Given the description of an element on the screen output the (x, y) to click on. 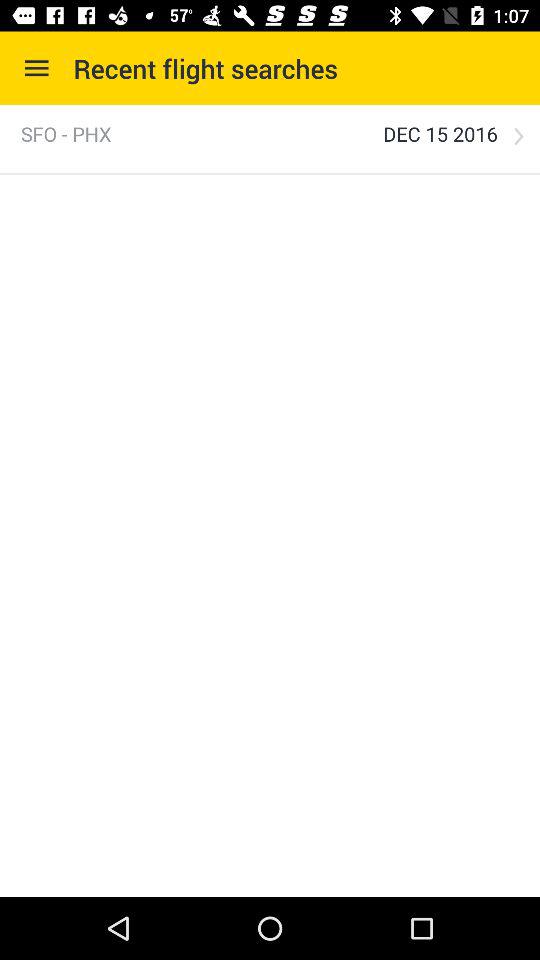
turn on icon next to the dec 15 2016 item (518, 136)
